Given the description of an element on the screen output the (x, y) to click on. 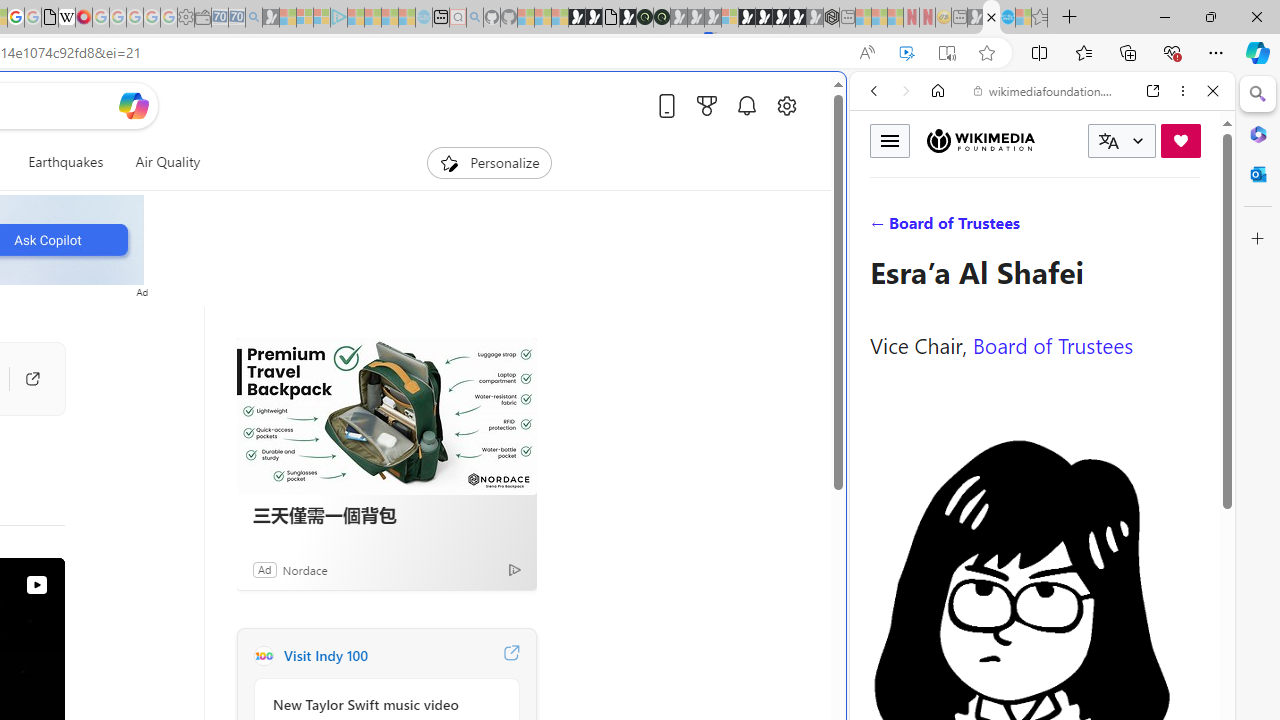
Toggle menu (890, 140)
Future Focus Report 2024 (661, 17)
Board of Trustees (1053, 344)
Search Filter, Search Tools (1093, 228)
Indy 100 (263, 655)
Favorites - Sleeping (1039, 17)
CURRENT LANGUAGE: (1121, 141)
MSN - Sleeping (975, 17)
